Given the description of an element on the screen output the (x, y) to click on. 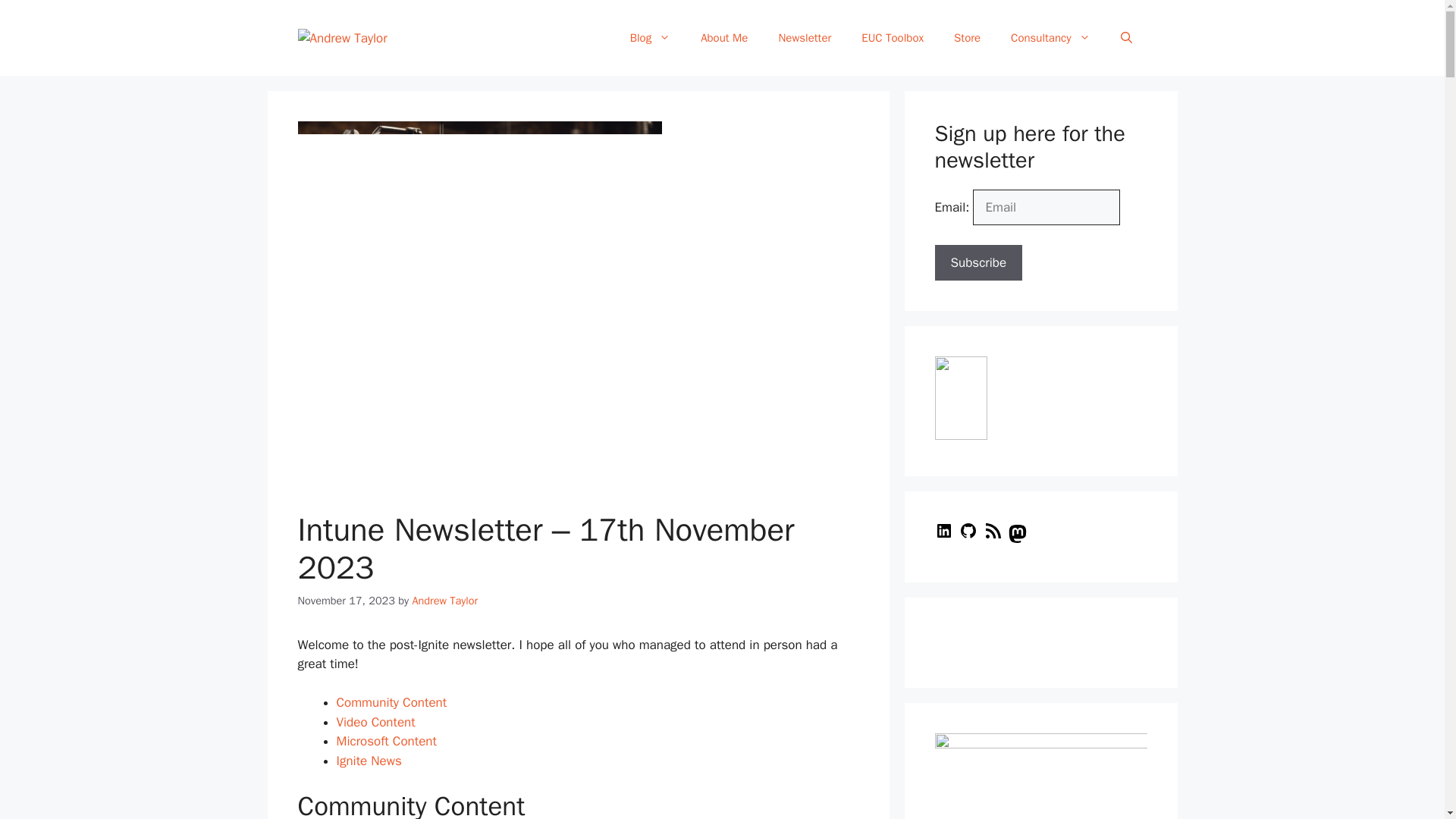
Ignite News (368, 760)
Consultancy (1050, 37)
View all posts by Andrew Taylor (444, 600)
EUC Toolbox (892, 37)
Newsletter (803, 37)
Video Content (375, 722)
Community Content (391, 702)
Microsoft Content (386, 741)
About Me (723, 37)
Store (967, 37)
Andrew Taylor (444, 600)
Blog (649, 37)
